Given the description of an element on the screen output the (x, y) to click on. 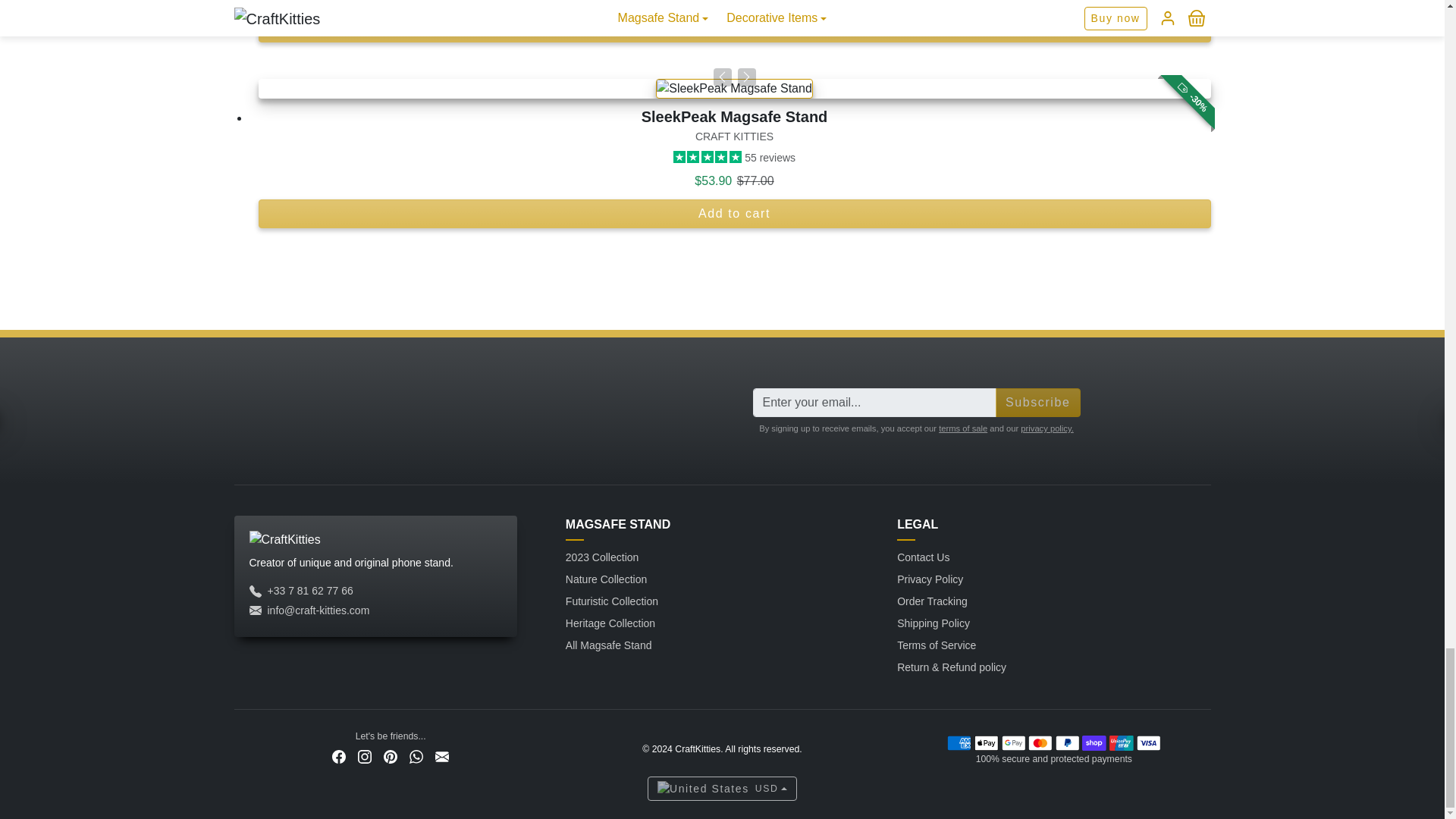
Terms of Service (963, 428)
ApplePay (986, 742)
Master (1040, 742)
Visa (1148, 742)
Email (441, 756)
Privacy Policy (1046, 428)
Unionpay (1121, 742)
ShopifyPay (1094, 742)
Whatsapp (416, 756)
Paypal (1067, 742)
Pinterest (390, 756)
Facebook (339, 756)
Instagram (364, 756)
GooglePay (1012, 742)
AmericanExpress (958, 742)
